Given the description of an element on the screen output the (x, y) to click on. 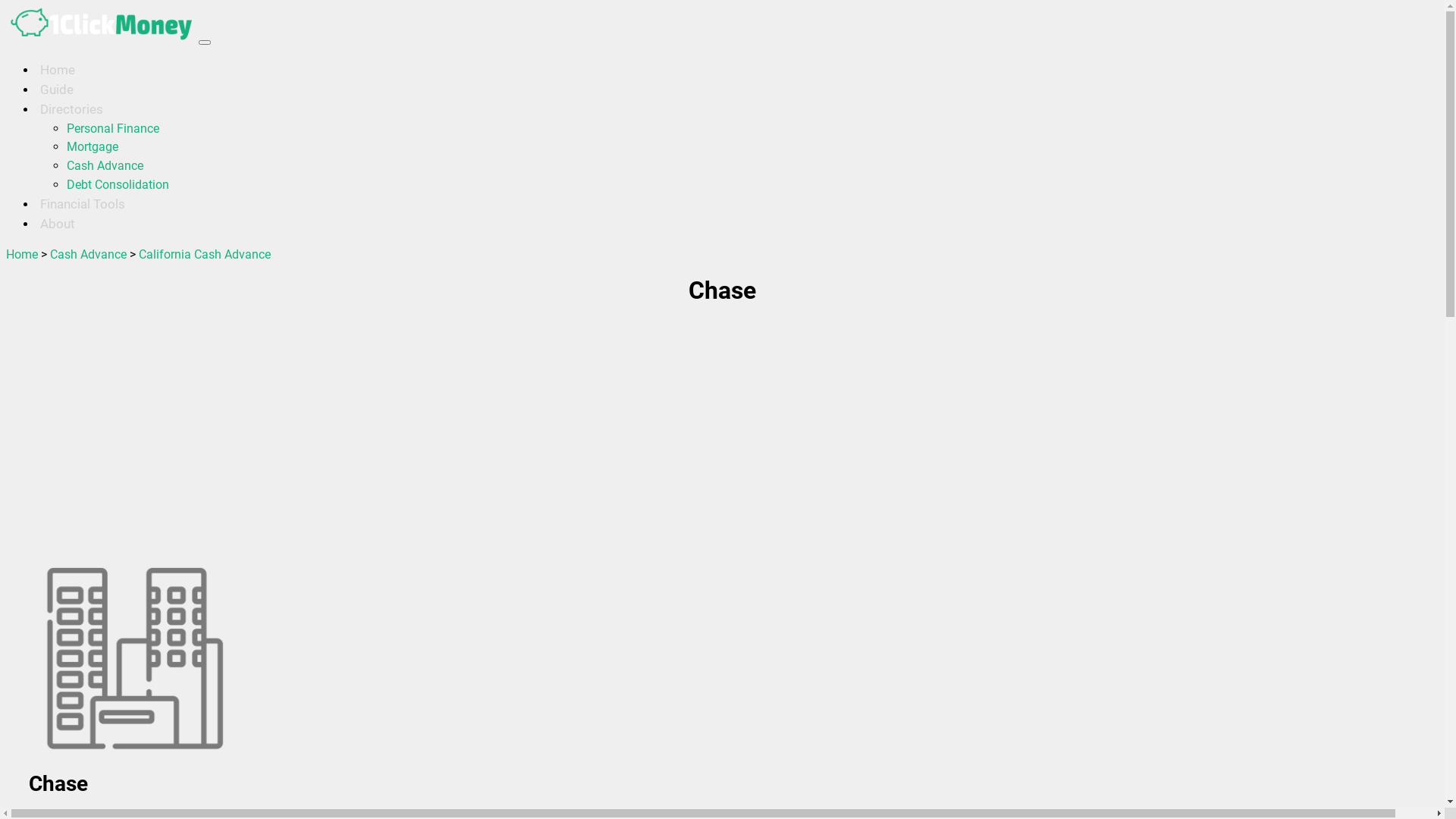
About Element type: text (57, 222)
Cash Advance Element type: text (88, 254)
Home Element type: text (21, 254)
Guide Element type: text (56, 89)
Directories Element type: text (71, 108)
Home Element type: text (57, 69)
California Cash Advance Element type: text (204, 254)
Financial Tools Element type: text (82, 203)
Mortgage Element type: text (92, 146)
Advertisement Element type: hover (461, 435)
Debt Consolidation Element type: text (117, 184)
Cash Advance Element type: text (104, 165)
Personal Finance Element type: text (112, 128)
